Given the description of an element on the screen output the (x, y) to click on. 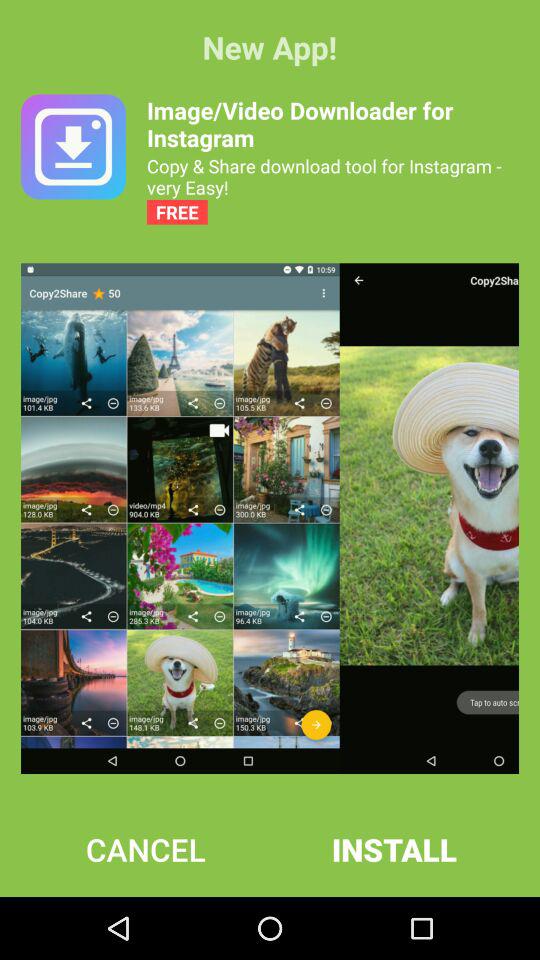
open the item to the left of install (145, 849)
